Given the description of an element on the screen output the (x, y) to click on. 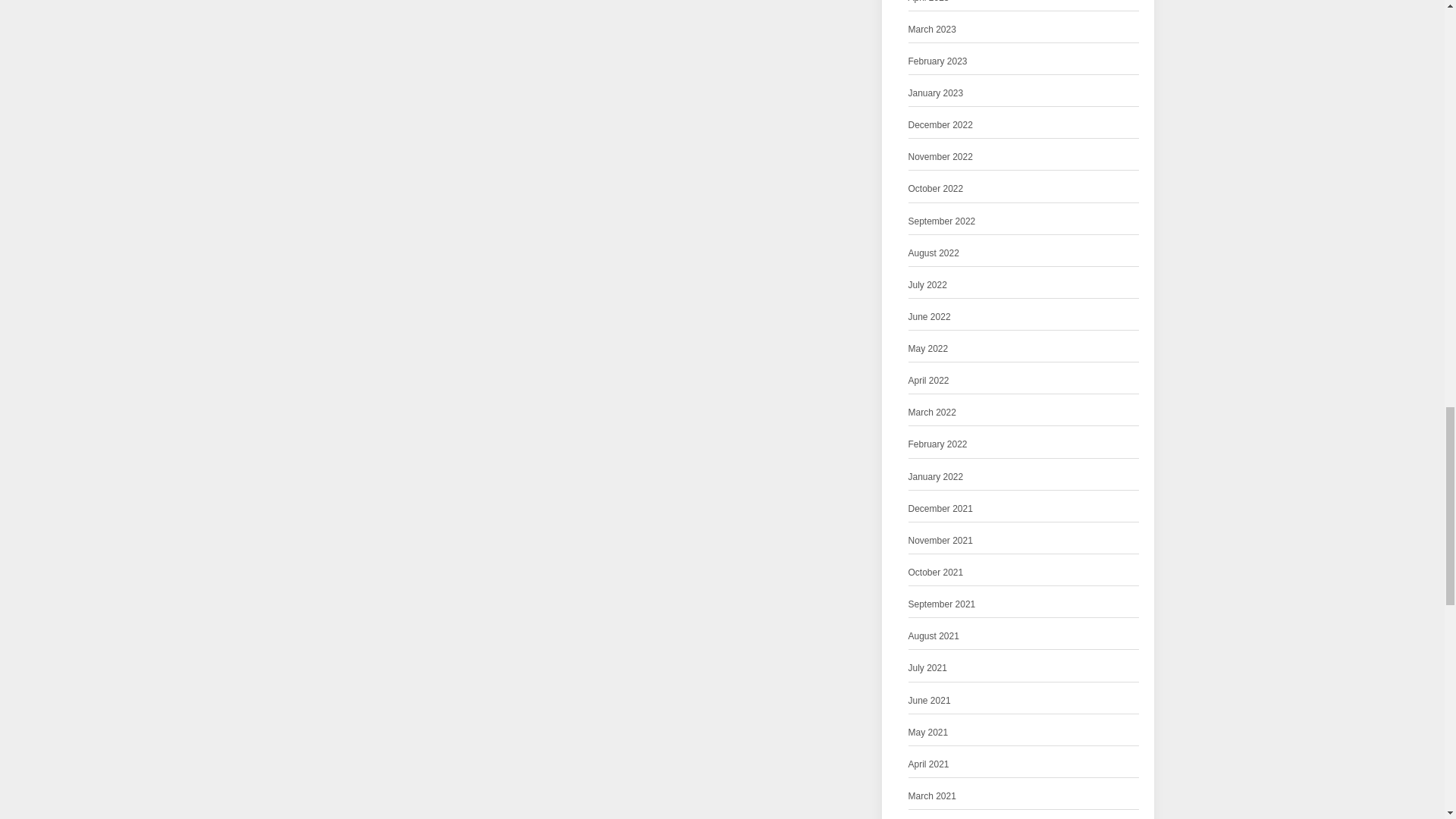
February 2023 (938, 61)
April 2023 (928, 2)
March 2023 (932, 29)
